Given the description of an element on the screen output the (x, y) to click on. 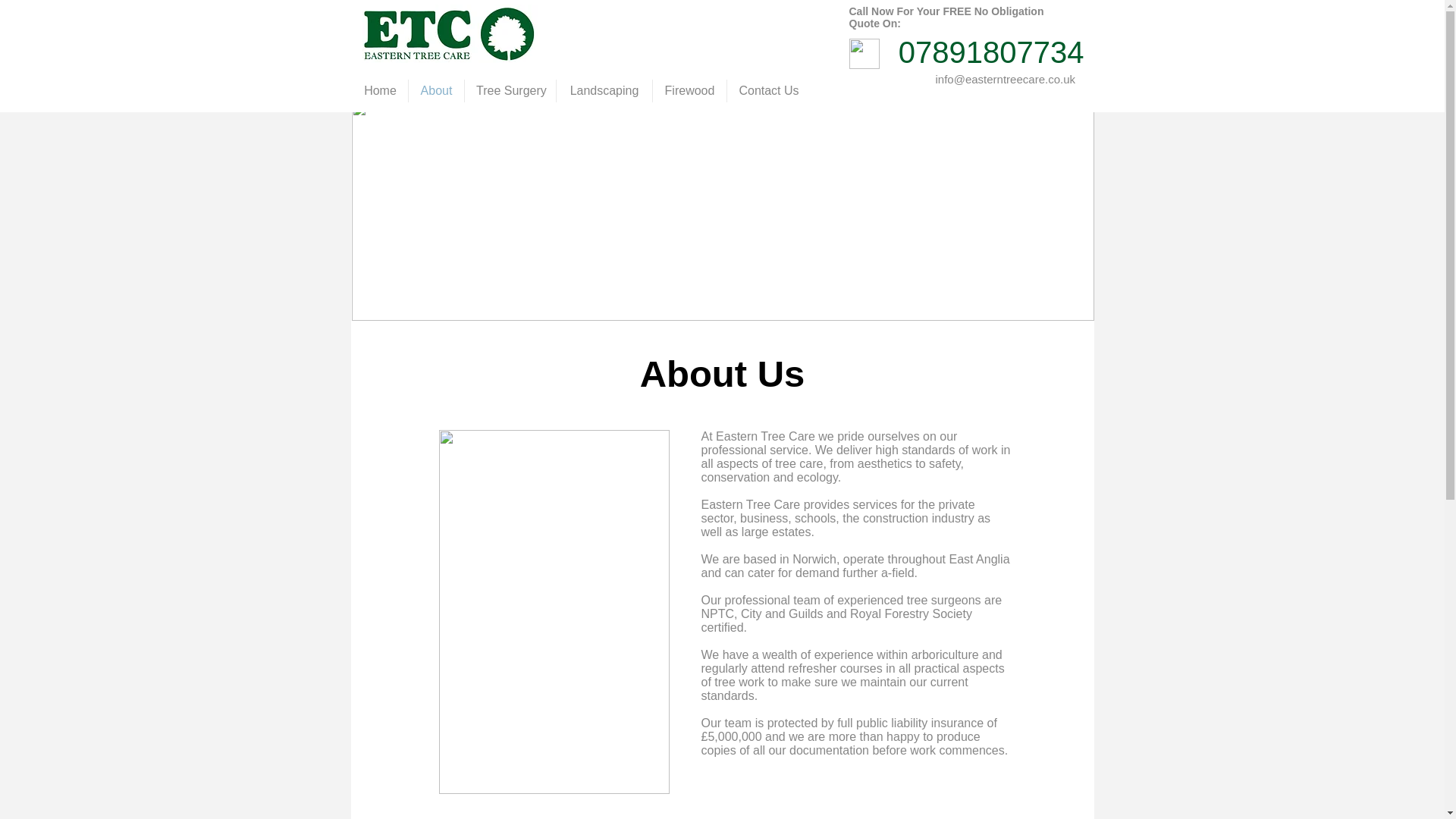
Tree Surgery (510, 90)
Landscaping (604, 90)
Firewood (689, 90)
Contact Us (768, 90)
Home (379, 90)
About (436, 90)
